Given the description of an element on the screen output the (x, y) to click on. 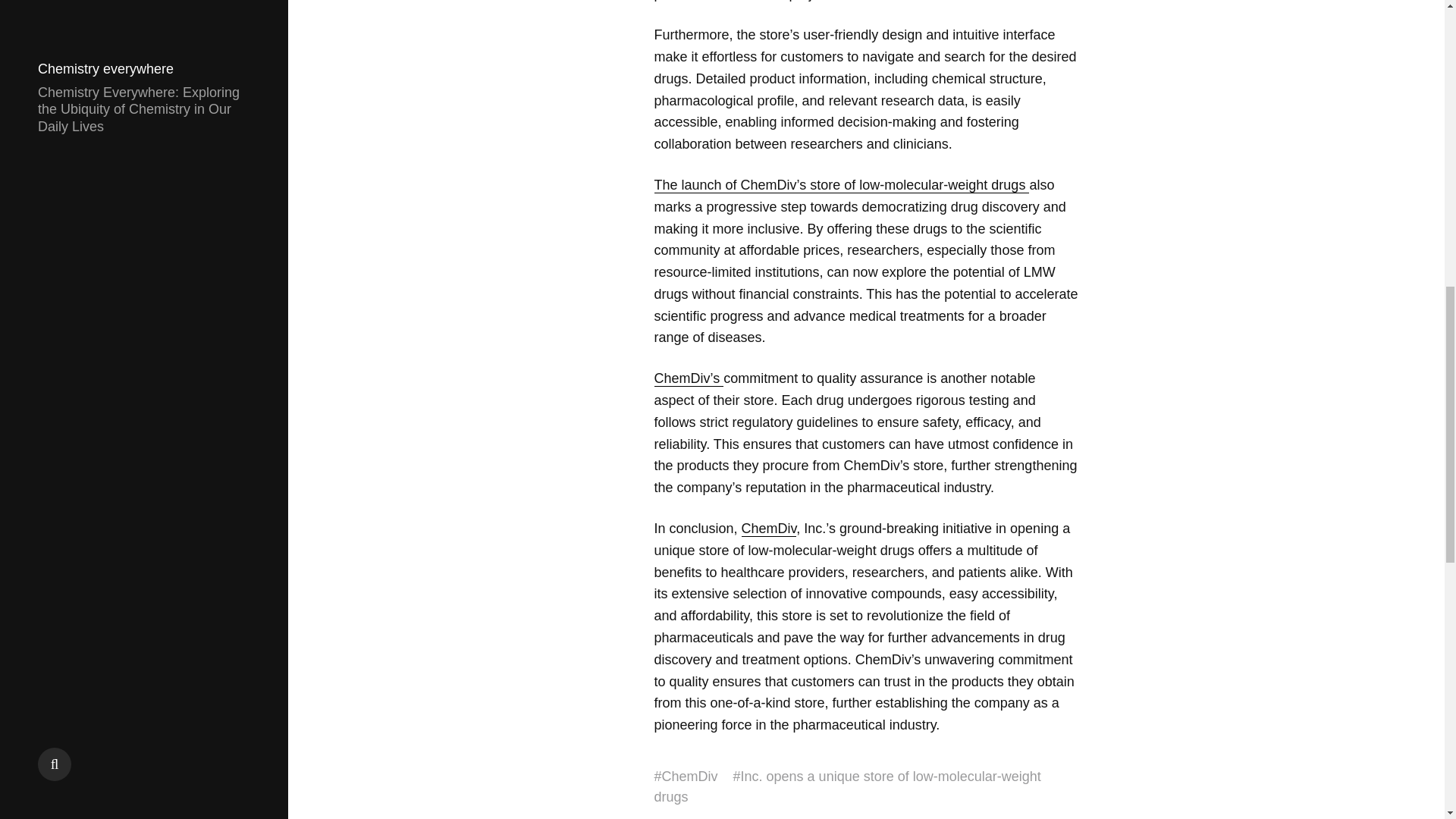
ChemDiv (768, 528)
ChemDiv (689, 776)
Inc. opens a unique store of low-molecular-weight drugs (847, 787)
